Given the description of an element on the screen output the (x, y) to click on. 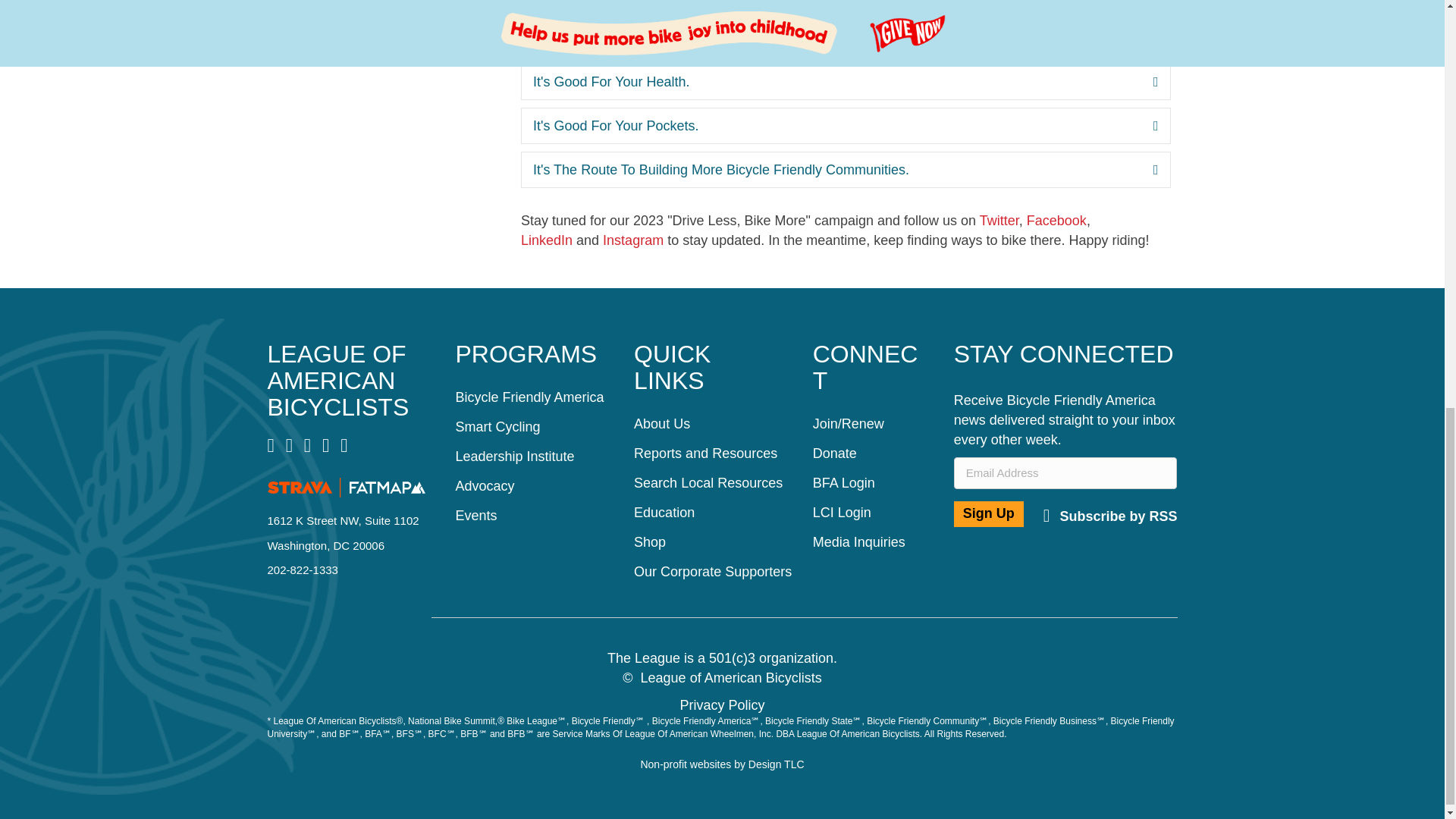
Strava-FATMAP-OrangeWhite-RGB (345, 487)
Sign Up (988, 514)
Click Here (1110, 515)
League of American Bicyclists (337, 380)
